Given the description of an element on the screen output the (x, y) to click on. 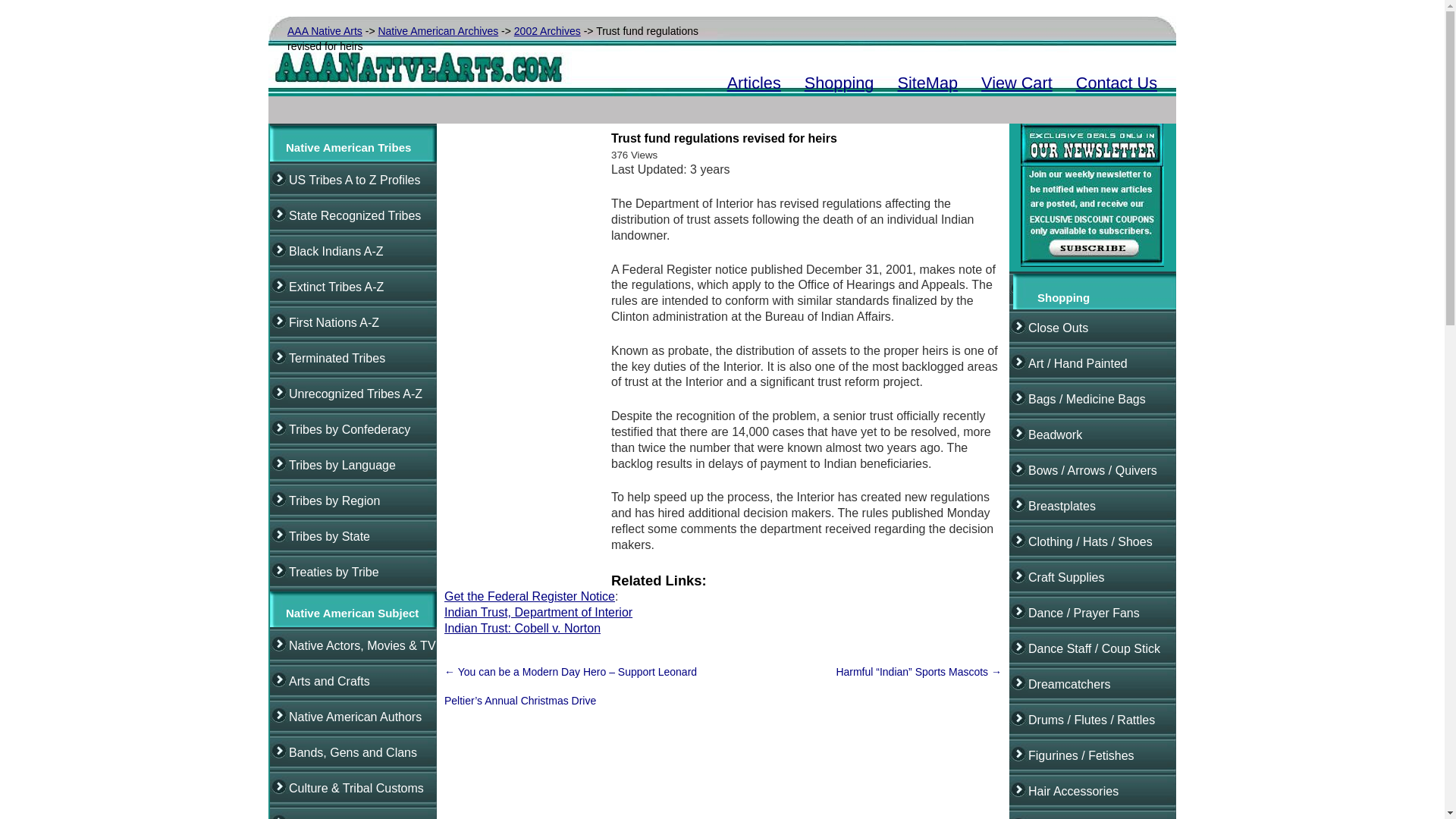
AAA Native Arts (324, 30)
Contact Us (1116, 82)
Native American Beadwork (1054, 434)
AAA Native Arts Native American Articles (753, 82)
Advertisement (733, 103)
US Tribes A to Z Profiles (354, 179)
Black Indians A-Z (336, 250)
2002 Archives (546, 30)
View Shopping Cart (1016, 82)
SiteMap (927, 82)
Shopping (840, 82)
View all posts in 2002 Archives (546, 30)
View Cart (1016, 82)
Articles (753, 82)
